Given the description of an element on the screen output the (x, y) to click on. 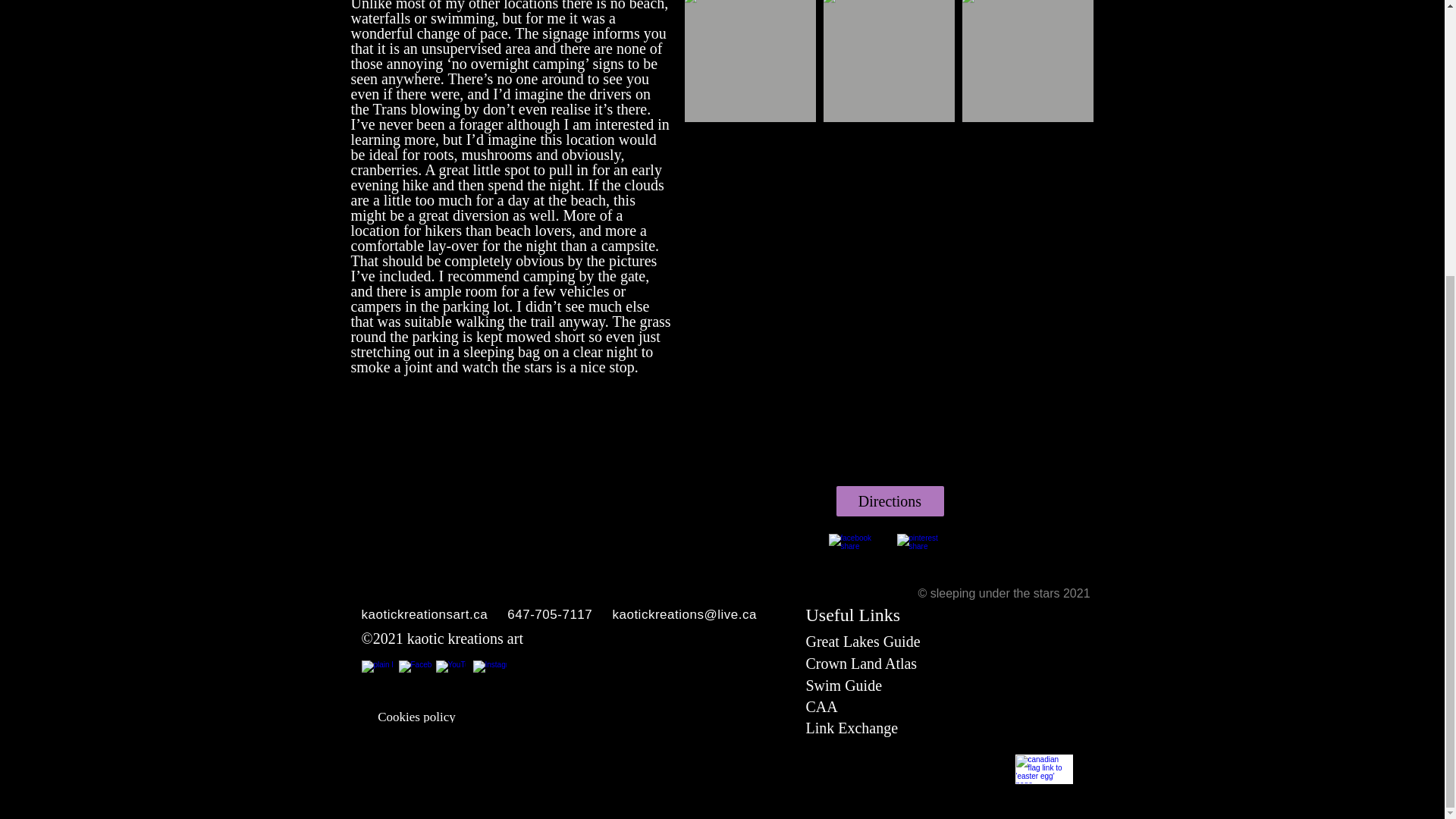
Link Exchange (851, 727)
Great Lakes Guide (862, 641)
Swim Guide (843, 685)
Cookies policy (417, 715)
Directions (889, 501)
CAA (821, 706)
Crown Land Atlas (861, 663)
